Given the description of an element on the screen output the (x, y) to click on. 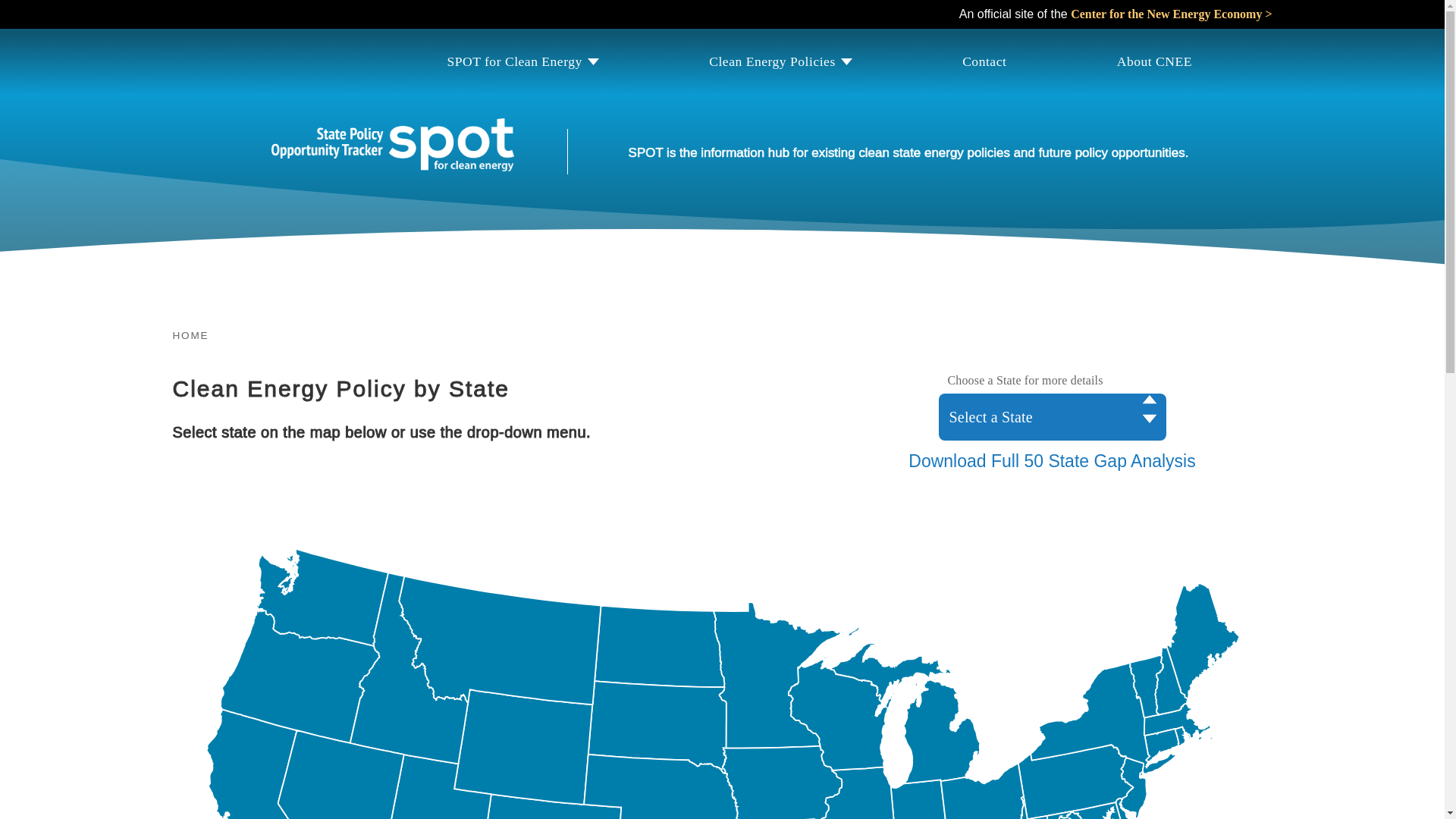
Clean Energy Policies (780, 61)
SPOT for Clean Energy (522, 61)
